Given the description of an element on the screen output the (x, y) to click on. 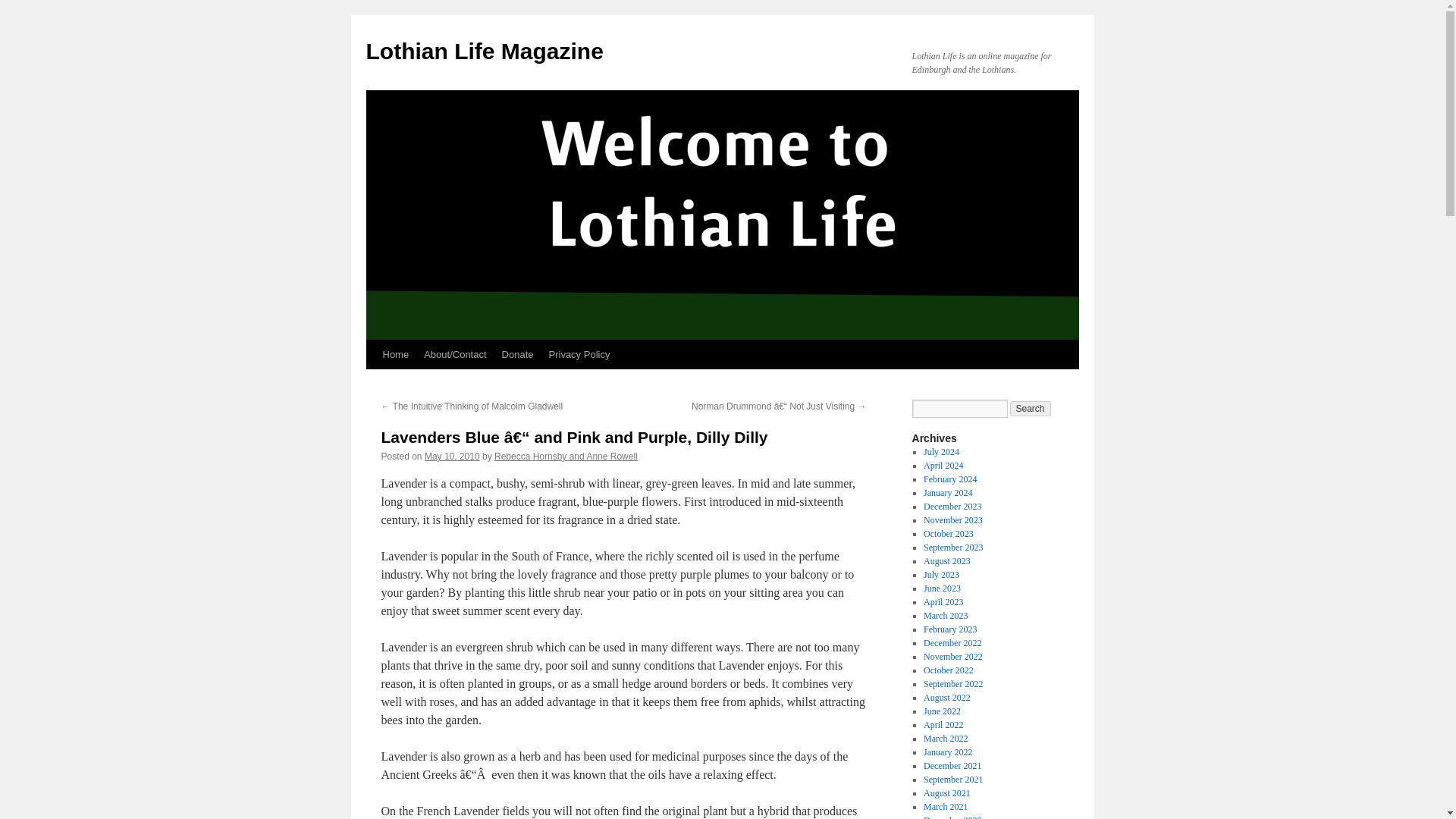
July 2023 (941, 574)
View all posts by Rebecca Hornsby and Anne Rowell (566, 456)
December 2023 (952, 506)
February 2023 (949, 629)
May 10, 2010 (452, 456)
Search (1030, 408)
August 2023 (947, 561)
April 2023 (942, 602)
April 2022 (942, 724)
August 2022 (947, 697)
3:21 pm (452, 456)
Search (1030, 408)
September 2023 (952, 547)
October 2023 (948, 533)
November 2023 (952, 520)
